Given the description of an element on the screen output the (x, y) to click on. 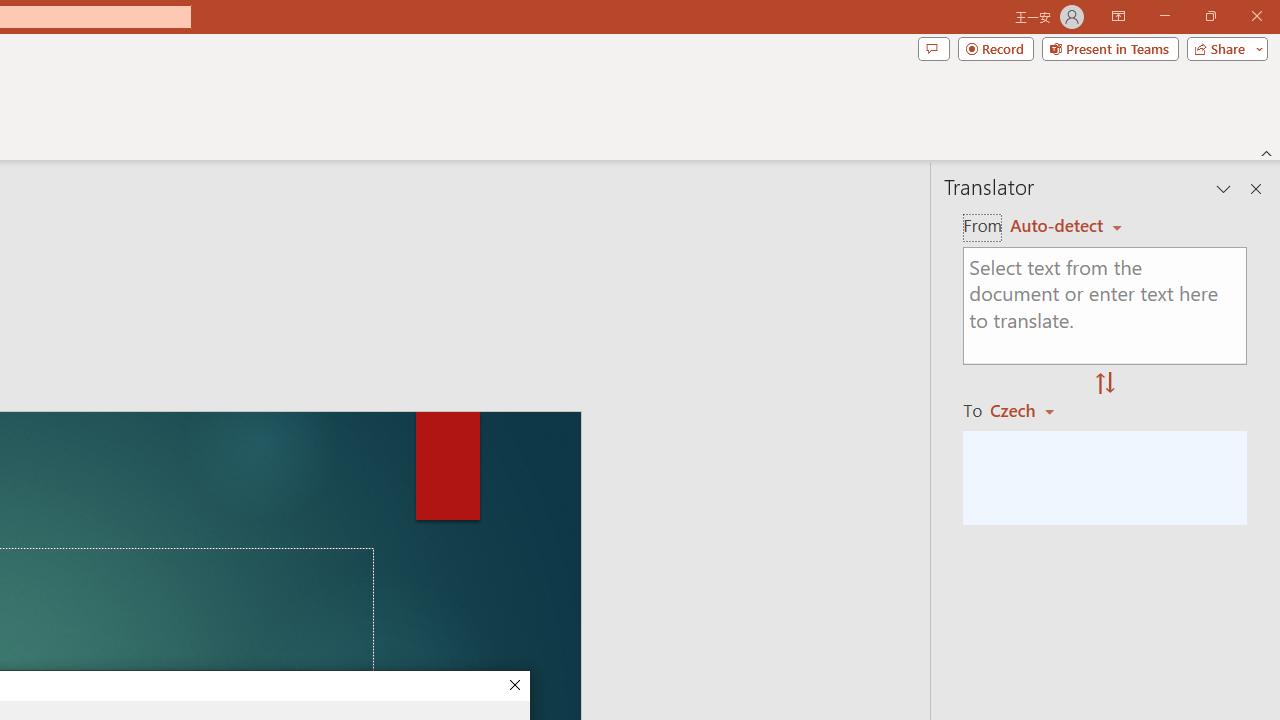
Auto-detect (1066, 225)
Czech (1030, 409)
